Given the description of an element on the screen output the (x, y) to click on. 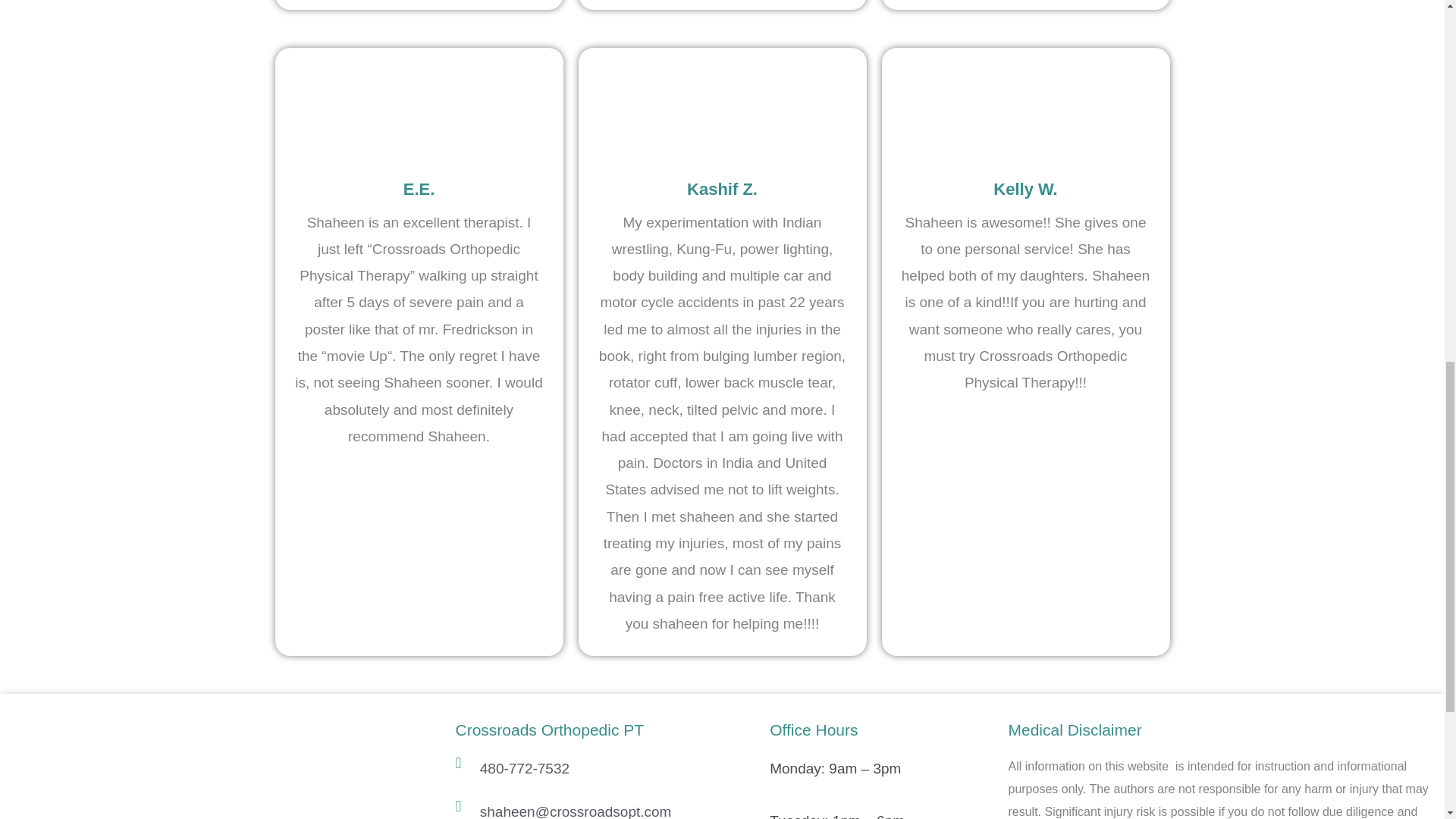
25410 S Arizona Ave Suite 182 (221, 769)
